Given the description of an element on the screen output the (x, y) to click on. 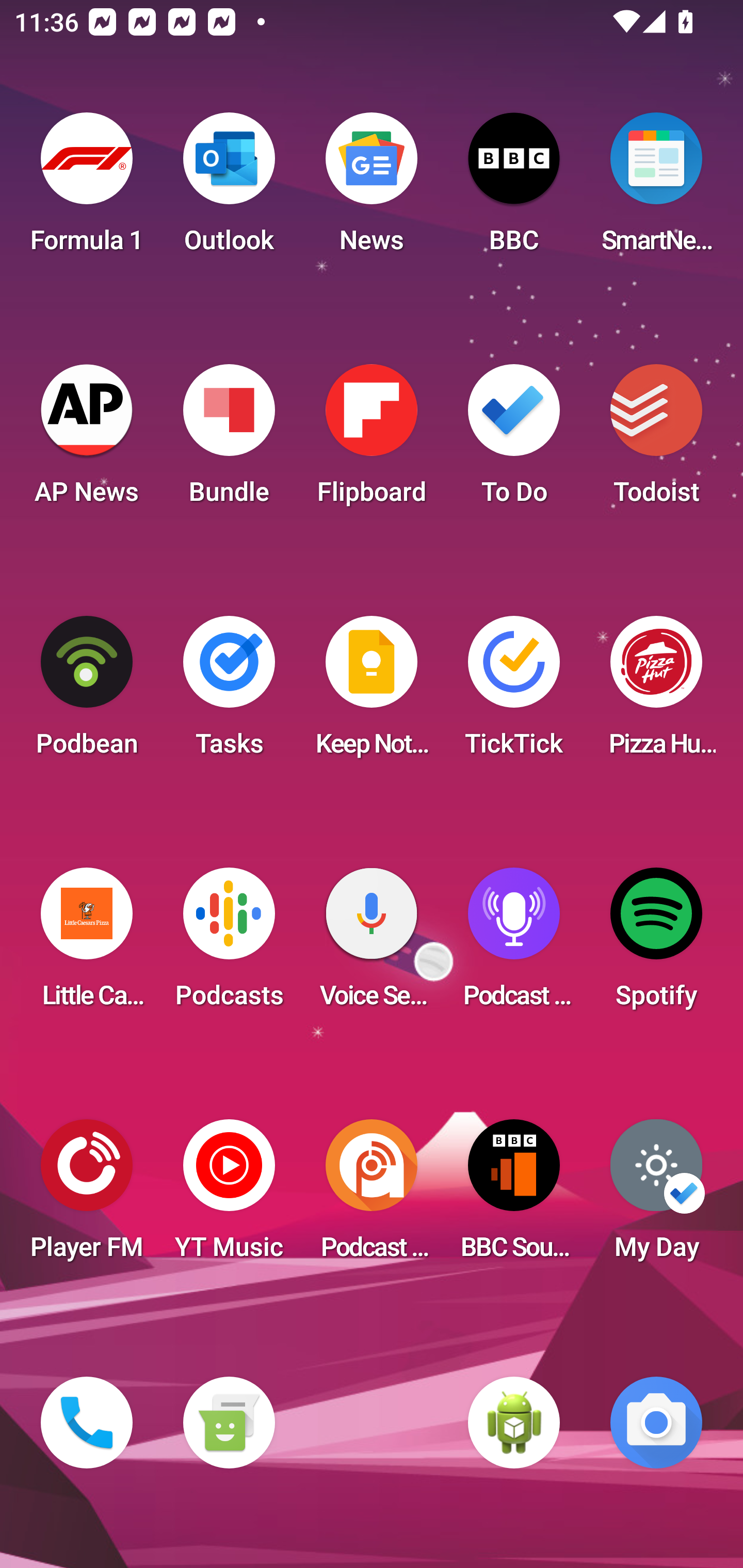
Formula 1 (86, 188)
Outlook (228, 188)
News (371, 188)
BBC (513, 188)
SmartNews (656, 188)
AP News (86, 440)
Bundle (228, 440)
Flipboard (371, 440)
To Do (513, 440)
Todoist (656, 440)
Podbean (86, 692)
Tasks (228, 692)
Keep Notes (371, 692)
TickTick (513, 692)
Pizza Hut HK & Macau (656, 692)
Little Caesars Pizza (86, 943)
Podcasts (228, 943)
Voice Search (371, 943)
Podcast Player (513, 943)
Spotify (656, 943)
Player FM (86, 1195)
YT Music (228, 1195)
Podcast Addict (371, 1195)
BBC Sounds (513, 1195)
My Day (656, 1195)
Phone (86, 1422)
Messaging (228, 1422)
WebView Browser Tester (513, 1422)
Camera (656, 1422)
